Given the description of an element on the screen output the (x, y) to click on. 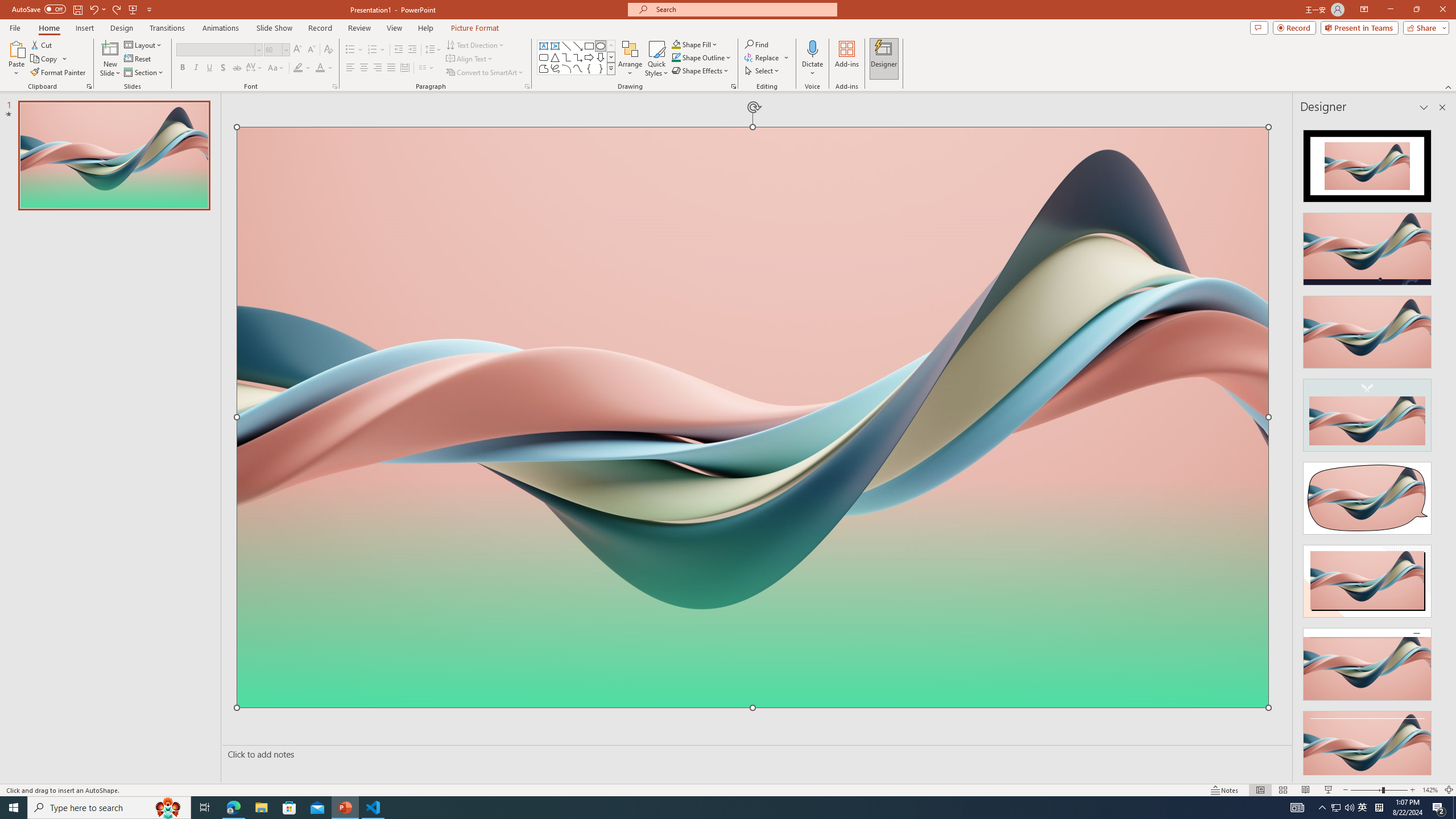
Recommended Design: Design Idea (1366, 162)
